Given the description of an element on the screen output the (x, y) to click on. 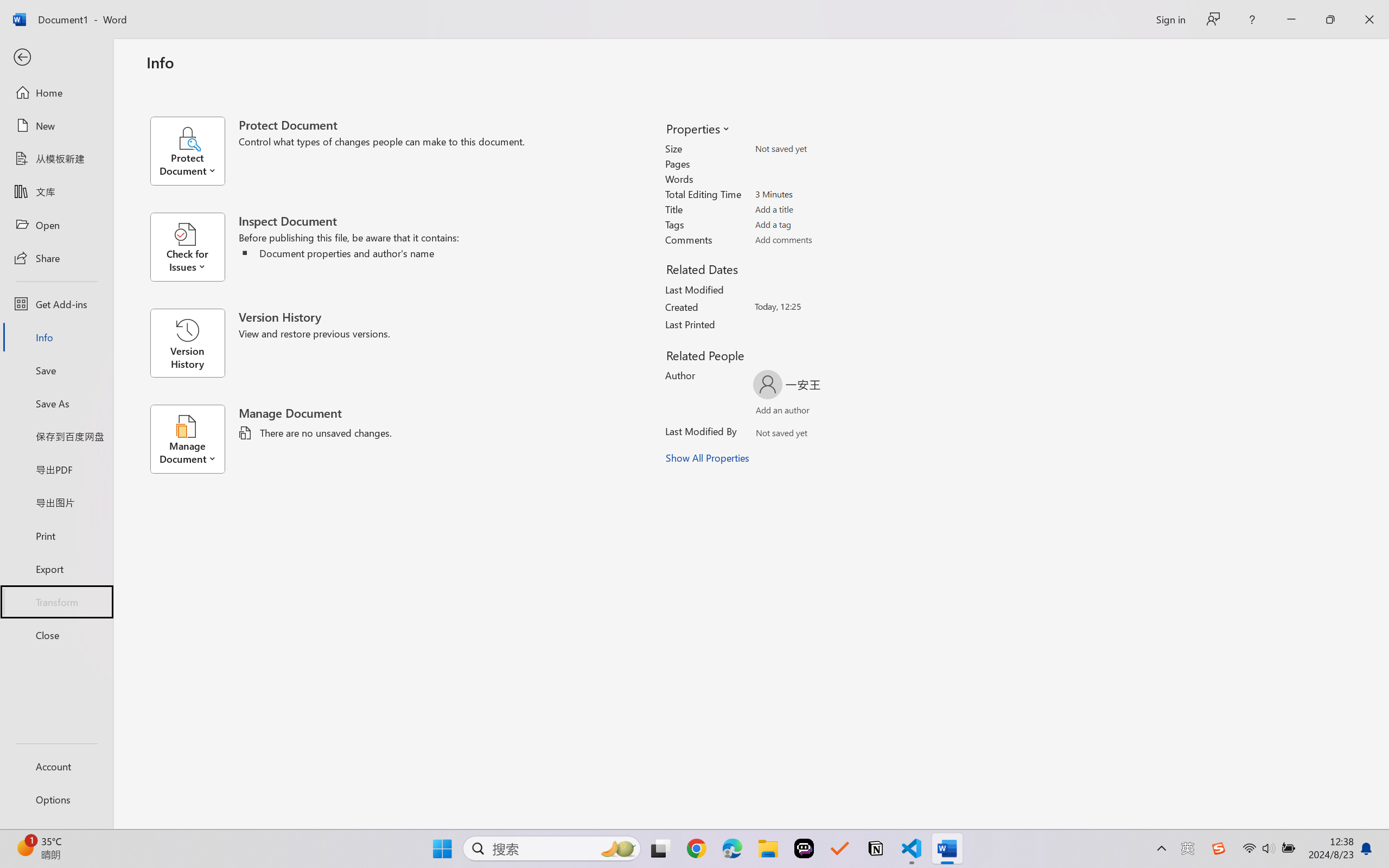
Tags (818, 223)
Transform (56, 601)
Size (818, 148)
Show All Properties (707, 457)
Export (56, 568)
